Given the description of an element on the screen output the (x, y) to click on. 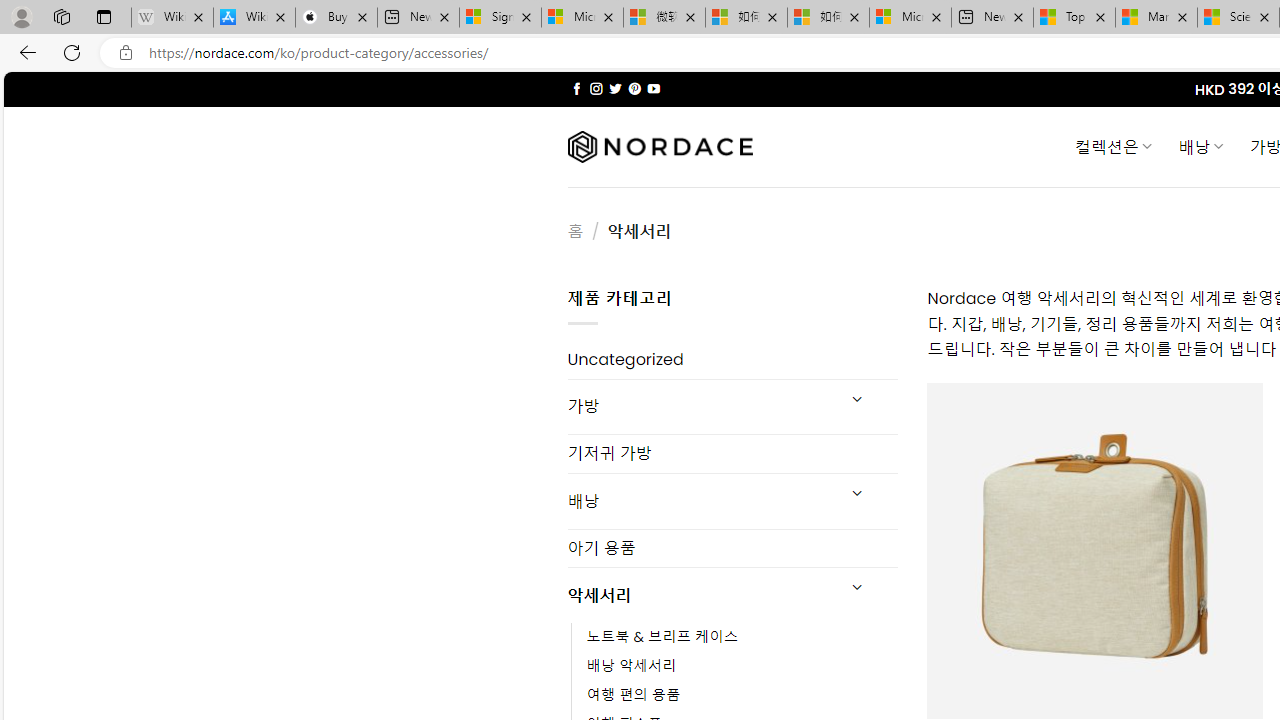
Follow on Instagram (596, 88)
Follow on Facebook (576, 88)
